Given the description of an element on the screen output the (x, y) to click on. 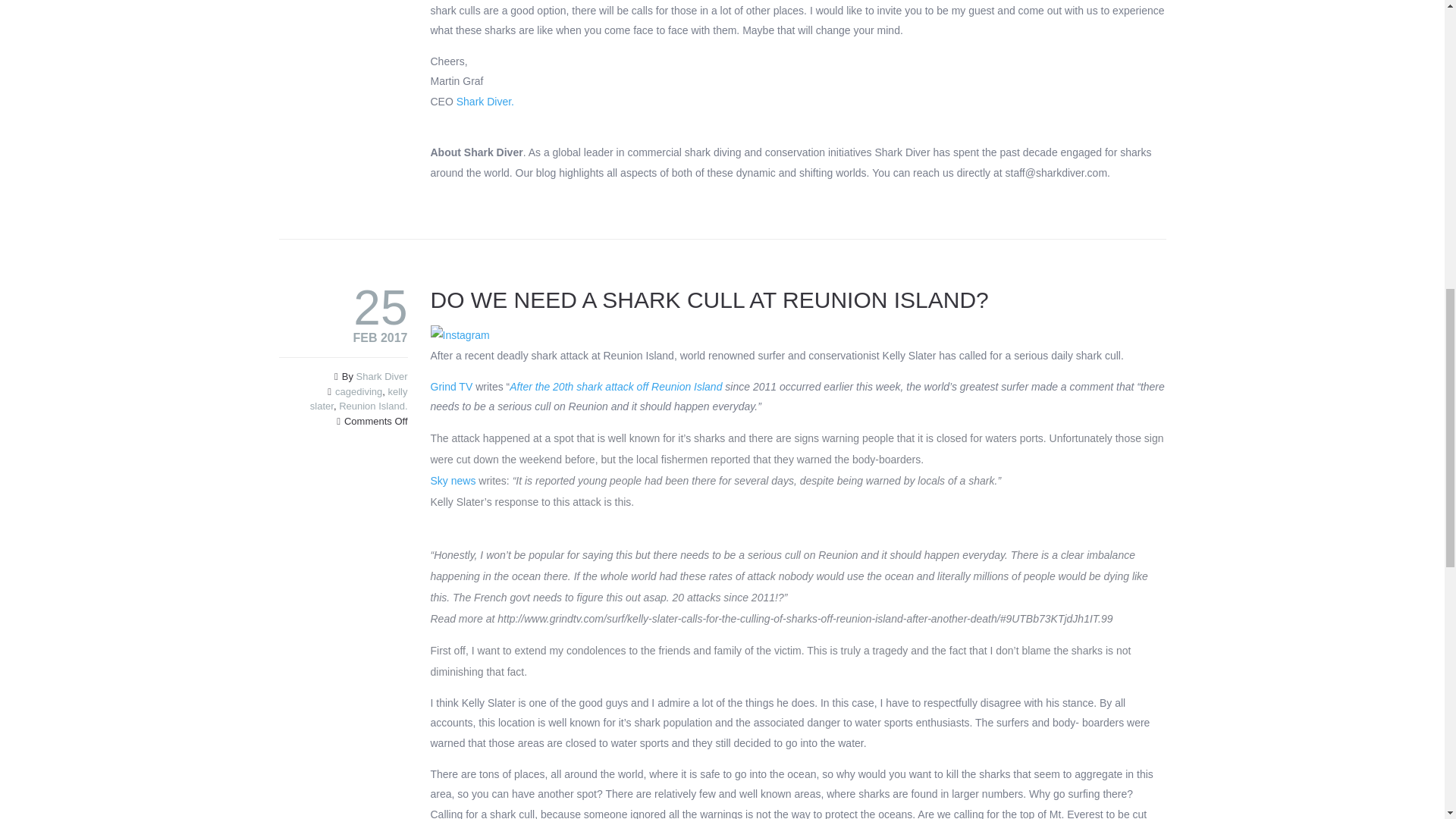
Shark Diver (381, 376)
kelly slater (358, 398)
Reunion Island. (373, 405)
cagediving (357, 391)
After the 20th shark attack off Reunion Island (615, 386)
Permalink to Do we need a shark cull at Reunion Island? (709, 299)
Grind TV (451, 386)
View all posts by Shark Diver (381, 376)
Sky news (454, 480)
DO WE NEED A SHARK CULL AT REUNION ISLAND? (709, 299)
Shark Diver. (485, 101)
